Given the description of an element on the screen output the (x, y) to click on. 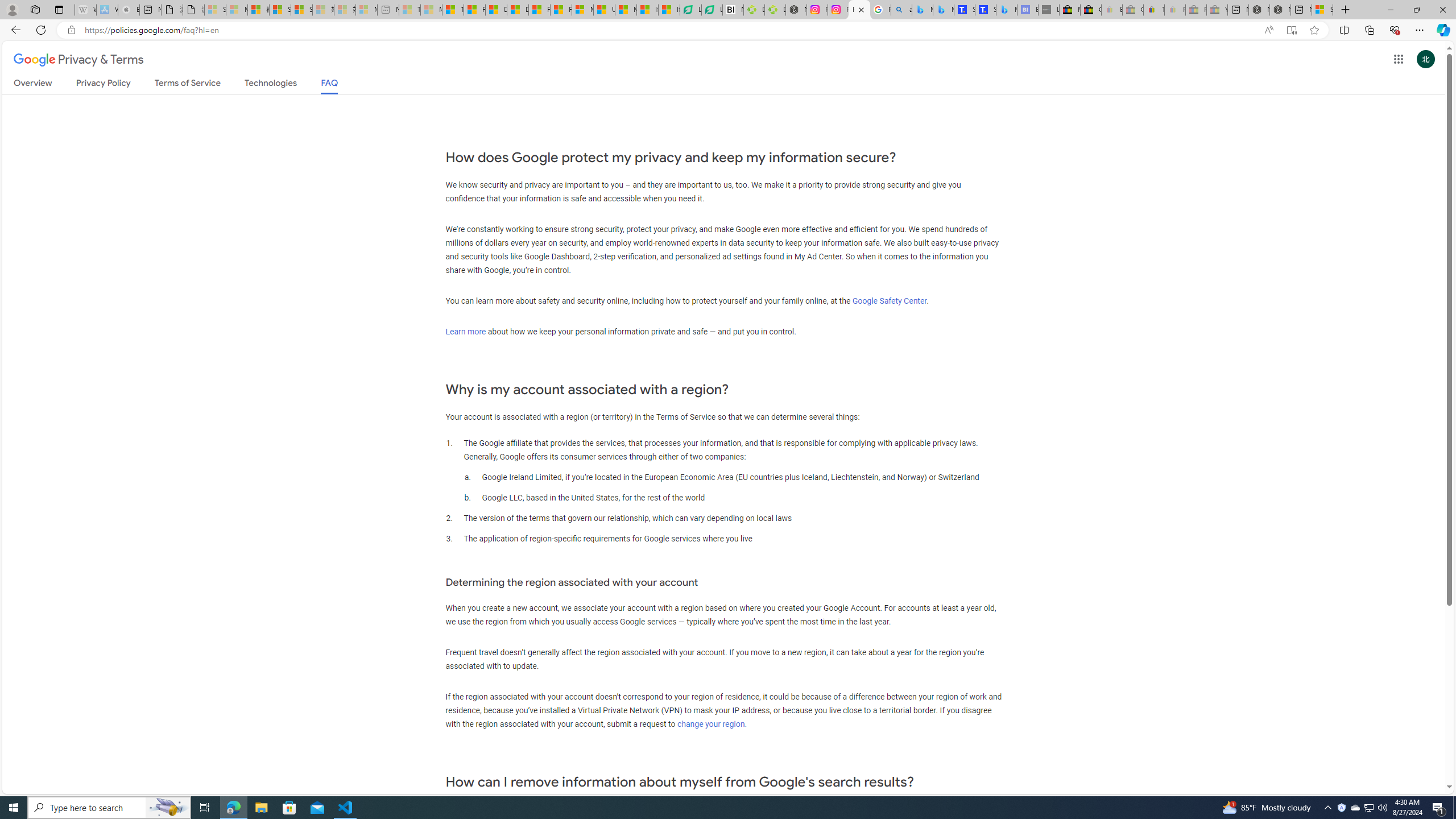
Nordace - Nordace Edin Collection (795, 9)
Payments Terms of Use | eBay.com - Sleeping (1174, 9)
Nordace - Summer Adventures 2024 (1280, 9)
Overview (32, 84)
alabama high school quarterback dies - Search (901, 9)
Top Stories - MSN - Sleeping (409, 9)
Class: gb_E (1398, 59)
